Given the description of an element on the screen output the (x, y) to click on. 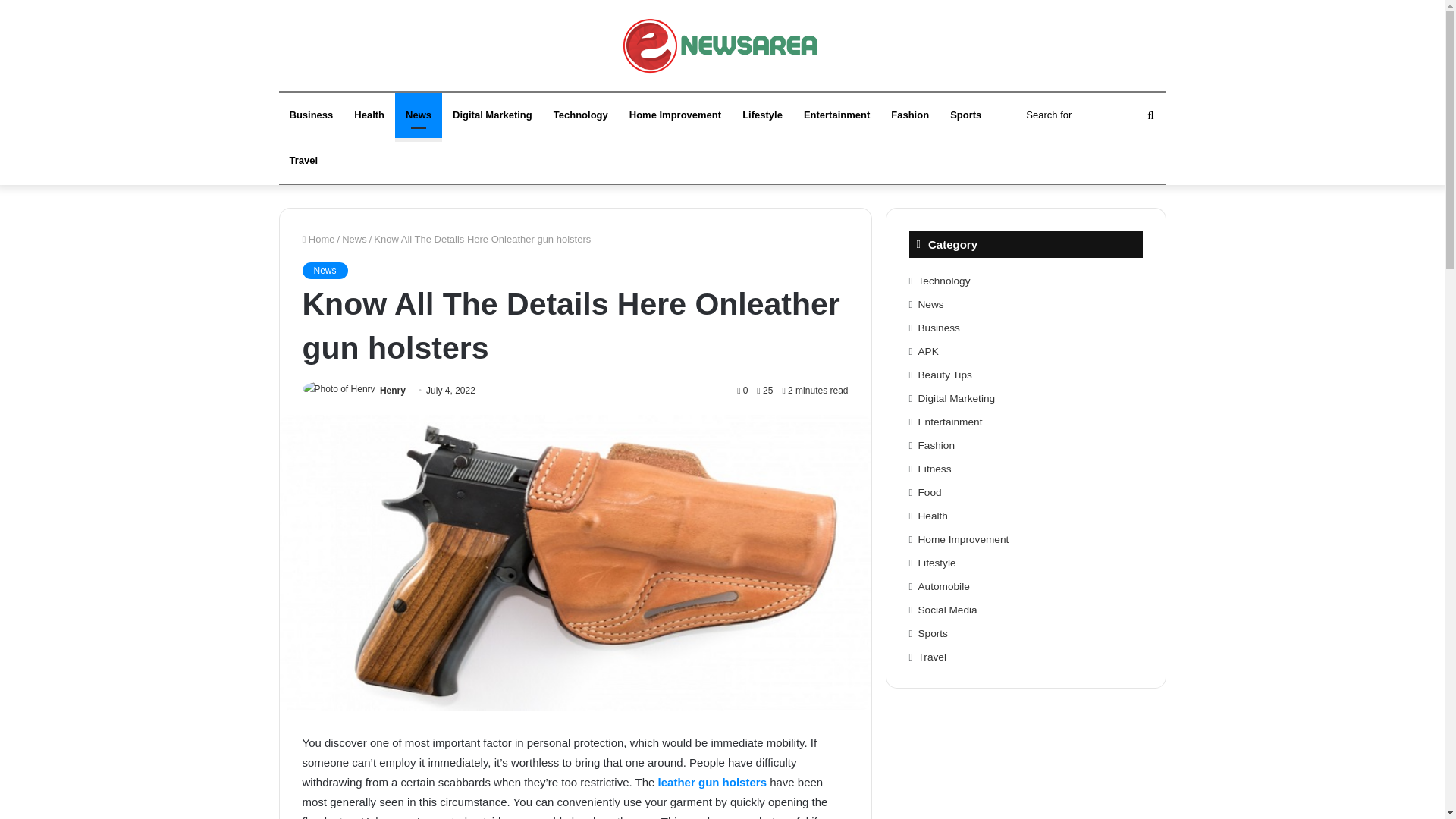
News (418, 115)
enewsarea.com (721, 53)
Search for (1091, 115)
News (354, 238)
Sports (965, 115)
Lifestyle (762, 115)
Home Improvement (675, 115)
Henry (393, 389)
Henry (393, 389)
Digital Marketing (492, 115)
Travel (304, 160)
Home (317, 238)
Health (368, 115)
Entertainment (836, 115)
Search for (1150, 115)
